Given the description of an element on the screen output the (x, y) to click on. 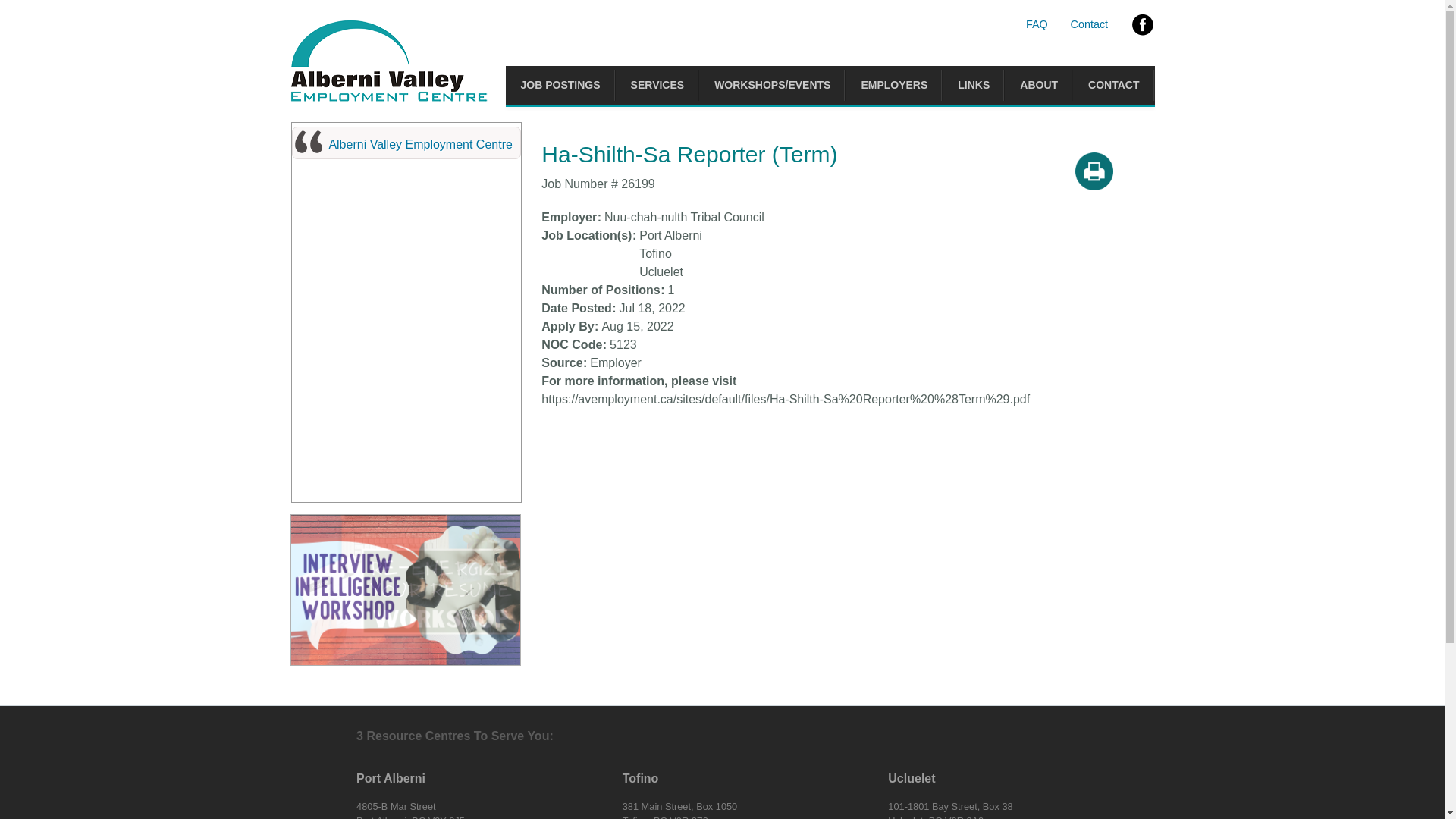
Contact Element type: text (1089, 24)
LINKS Element type: text (973, 85)
WORKSHOPS/EVENTS Element type: text (772, 85)
CONTACT Element type: text (1113, 85)
ABOUT Element type: text (1038, 85)
EMPLOYERS Element type: text (893, 85)
Interview Intelligence Workshop Element type: hover (404, 589)
Home Element type: hover (387, 97)
JOB POSTINGS Element type: text (560, 85)
FAQ Element type: text (1037, 24)
SERVICES Element type: text (657, 85)
Alberni Valley Employment Centre Element type: text (419, 144)
